Given the description of an element on the screen output the (x, y) to click on. 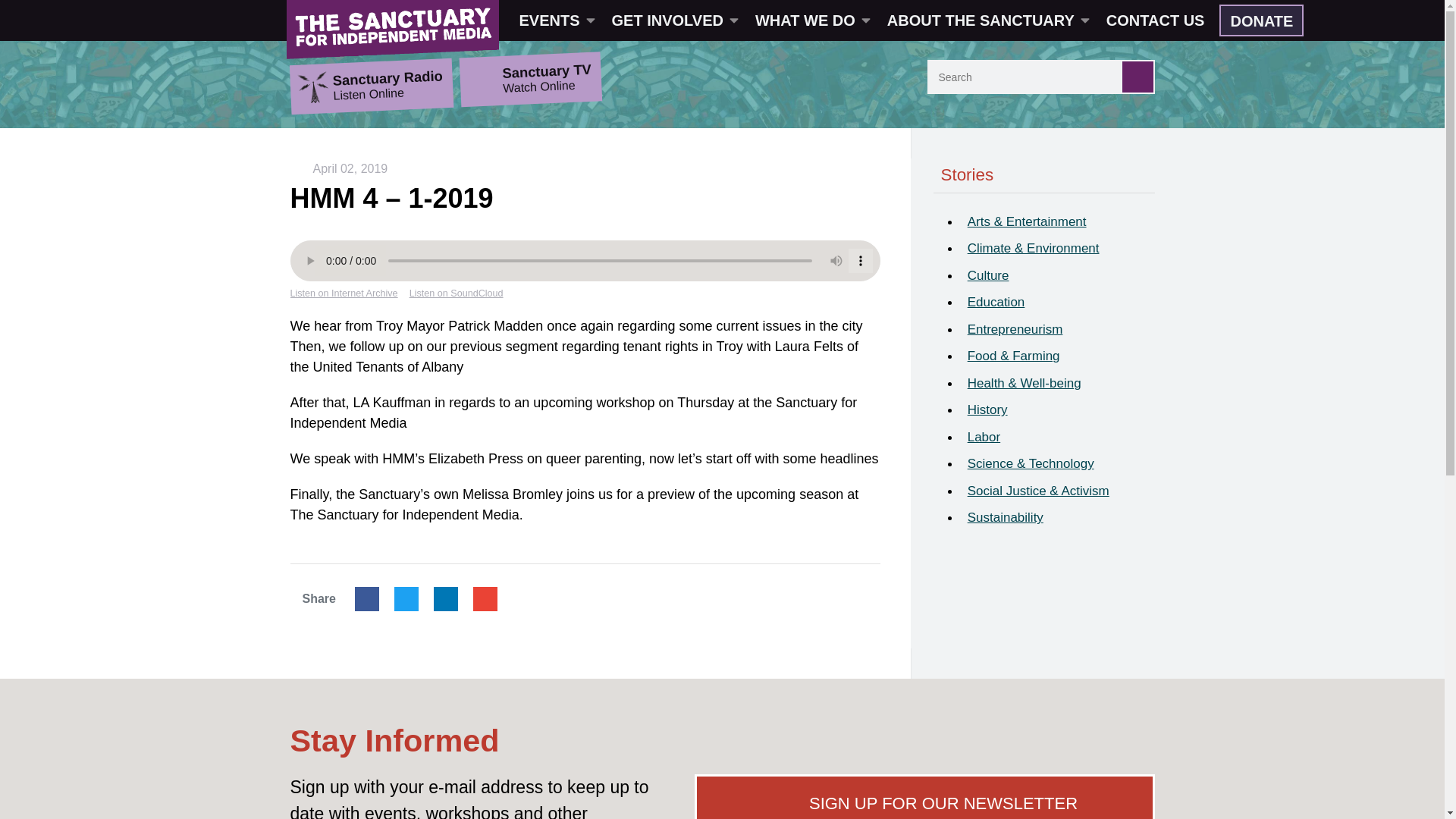
GET INVOLVED (673, 20)
EVENTS (555, 20)
WHAT WE DO (811, 20)
ABOUT THE SANCTUARY (987, 20)
